Given the description of an element on the screen output the (x, y) to click on. 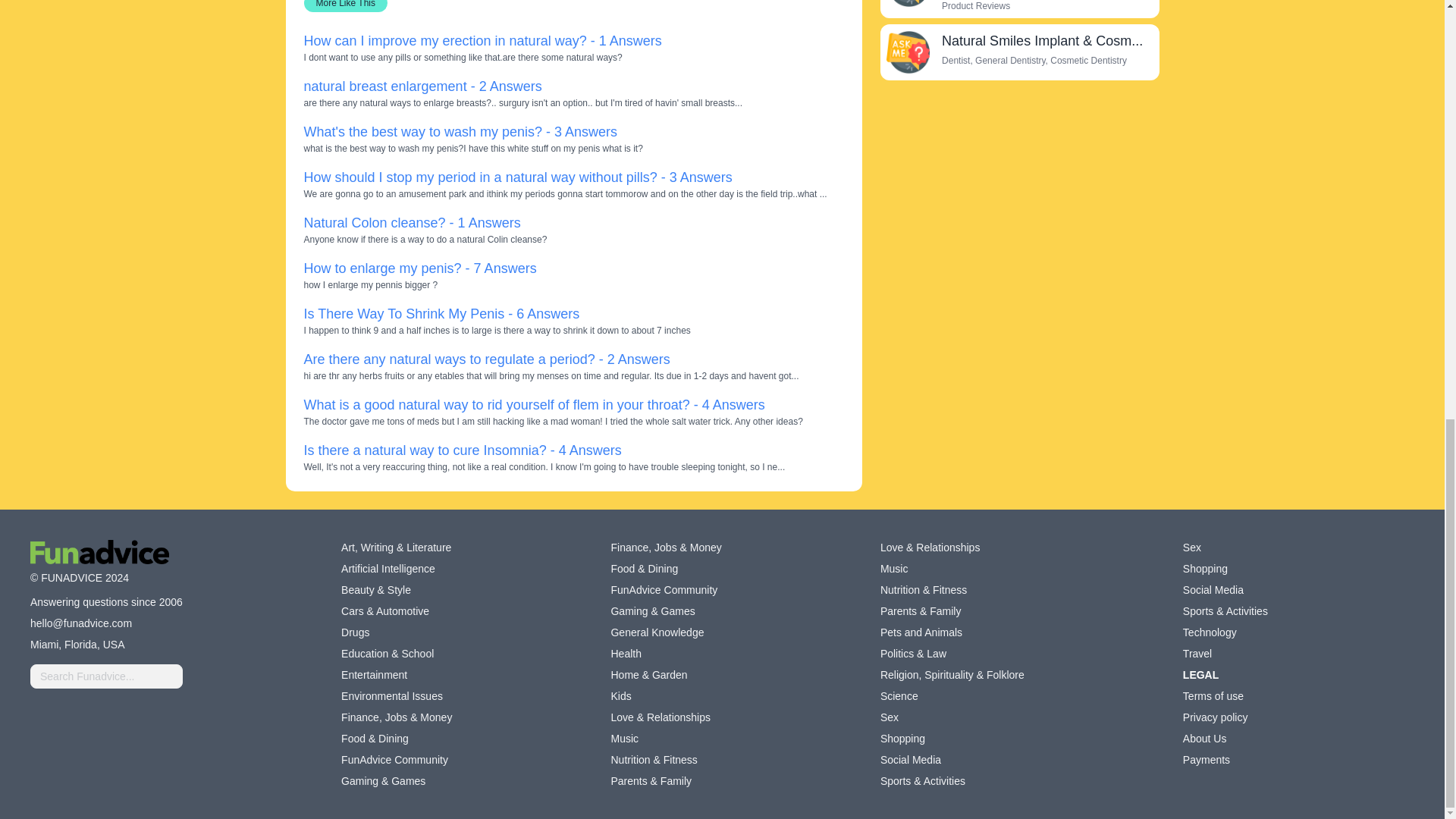
Is There Way To Shrink My Penis - 6 Answers (440, 313)
What's the best way to wash my penis? - 3 Answers (459, 131)
Are there any natural ways to regulate a period? - 2 Answers (485, 359)
Artificial Intelligence (387, 568)
Natural Colon cleanse? - 1 Answers (410, 222)
How to enlarge my penis? - 7 Answers (418, 268)
Is there a natural way to cure Insomnia? - 4 Answers (461, 450)
How can I improve my erection in natural way? - 1 Answers (481, 40)
Ways To Become Taller (907, 3)
Environmental Issues (391, 695)
Drugs (354, 631)
natural breast enlargement - 2 Answers (421, 86)
Entertainment (373, 674)
